Given the description of an element on the screen output the (x, y) to click on. 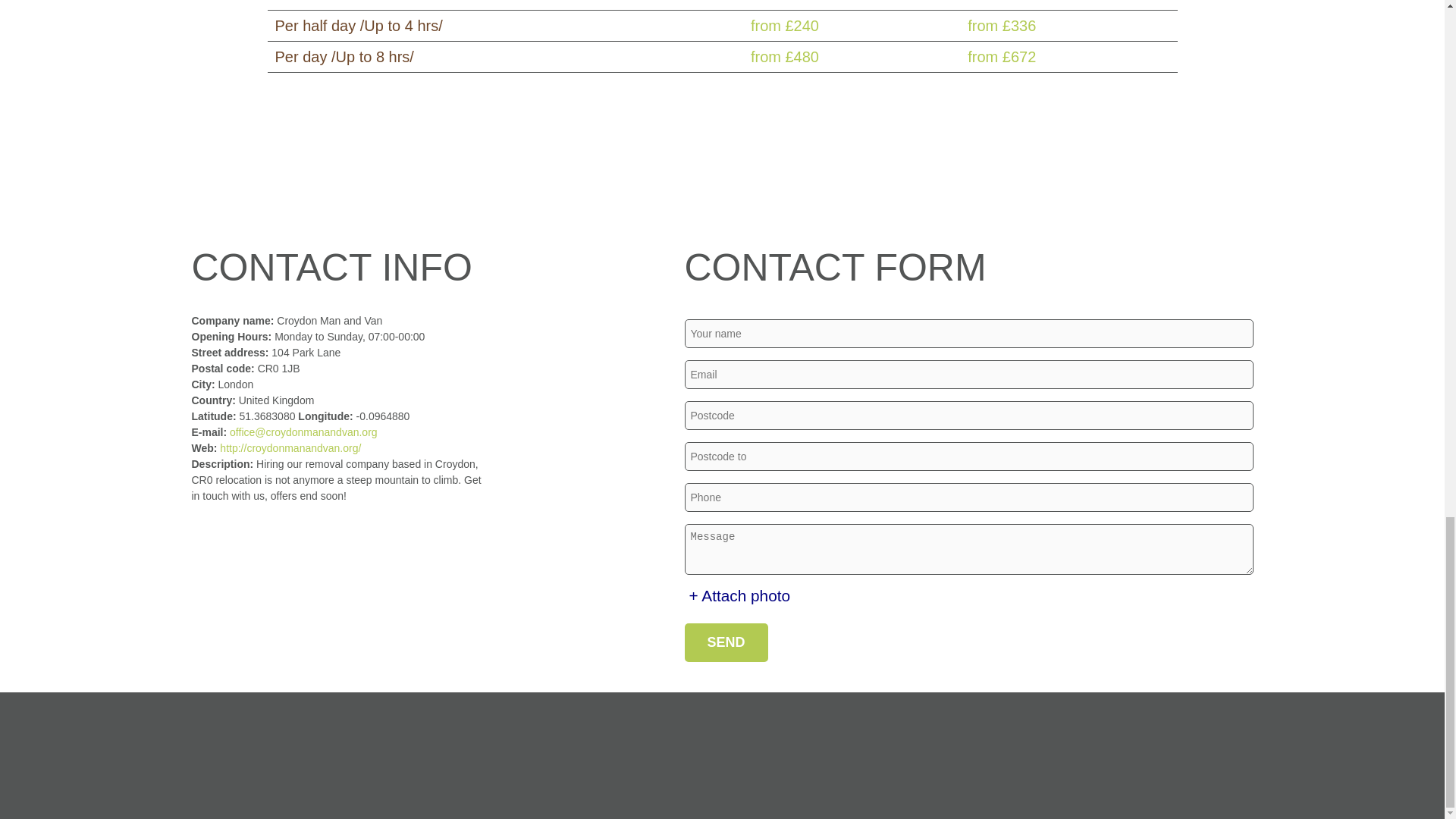
SEND (725, 642)
Send E-mail (303, 431)
